Given the description of an element on the screen output the (x, y) to click on. 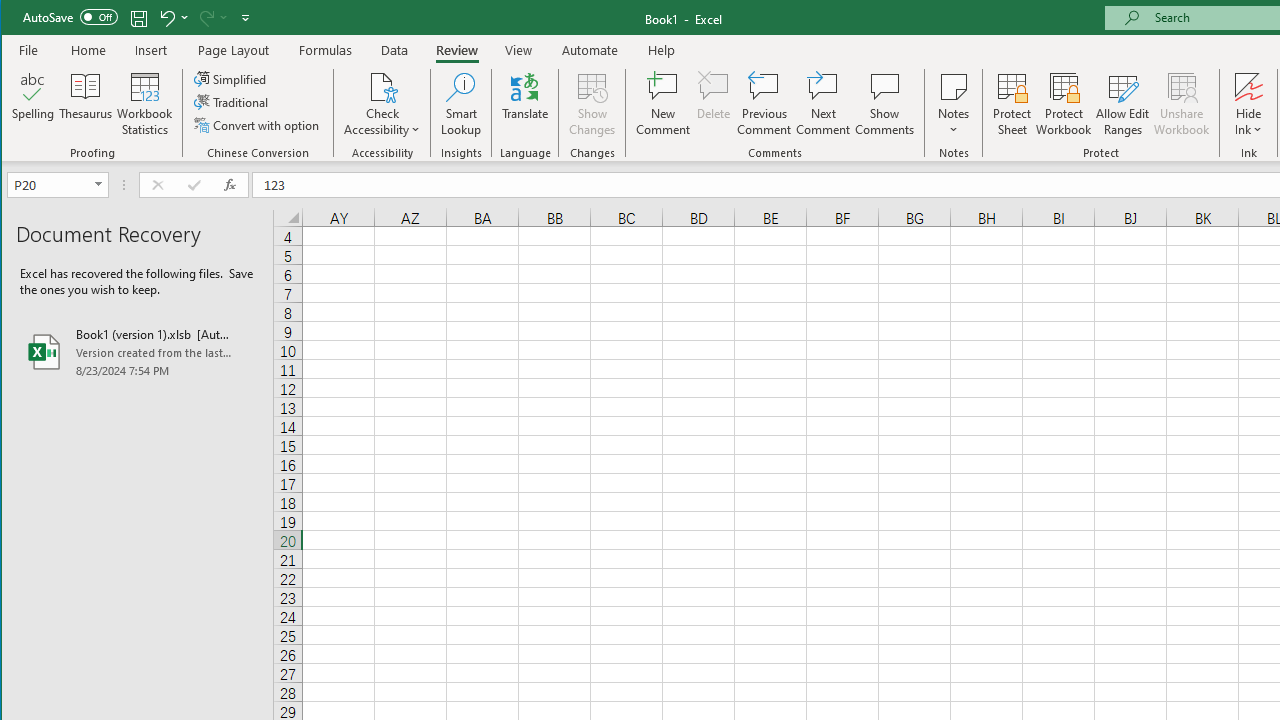
Name Box (49, 184)
Unshare Workbook (1182, 104)
Quick Access Toolbar (137, 17)
Check Accessibility (381, 86)
Hide Ink (1248, 86)
Redo (211, 17)
View (518, 50)
Spelling... (33, 104)
Check Accessibility (381, 104)
Page Layout (233, 50)
New Comment (662, 104)
Undo (166, 17)
Help (661, 50)
Notes (954, 104)
Formulas (326, 50)
